Given the description of an element on the screen output the (x, y) to click on. 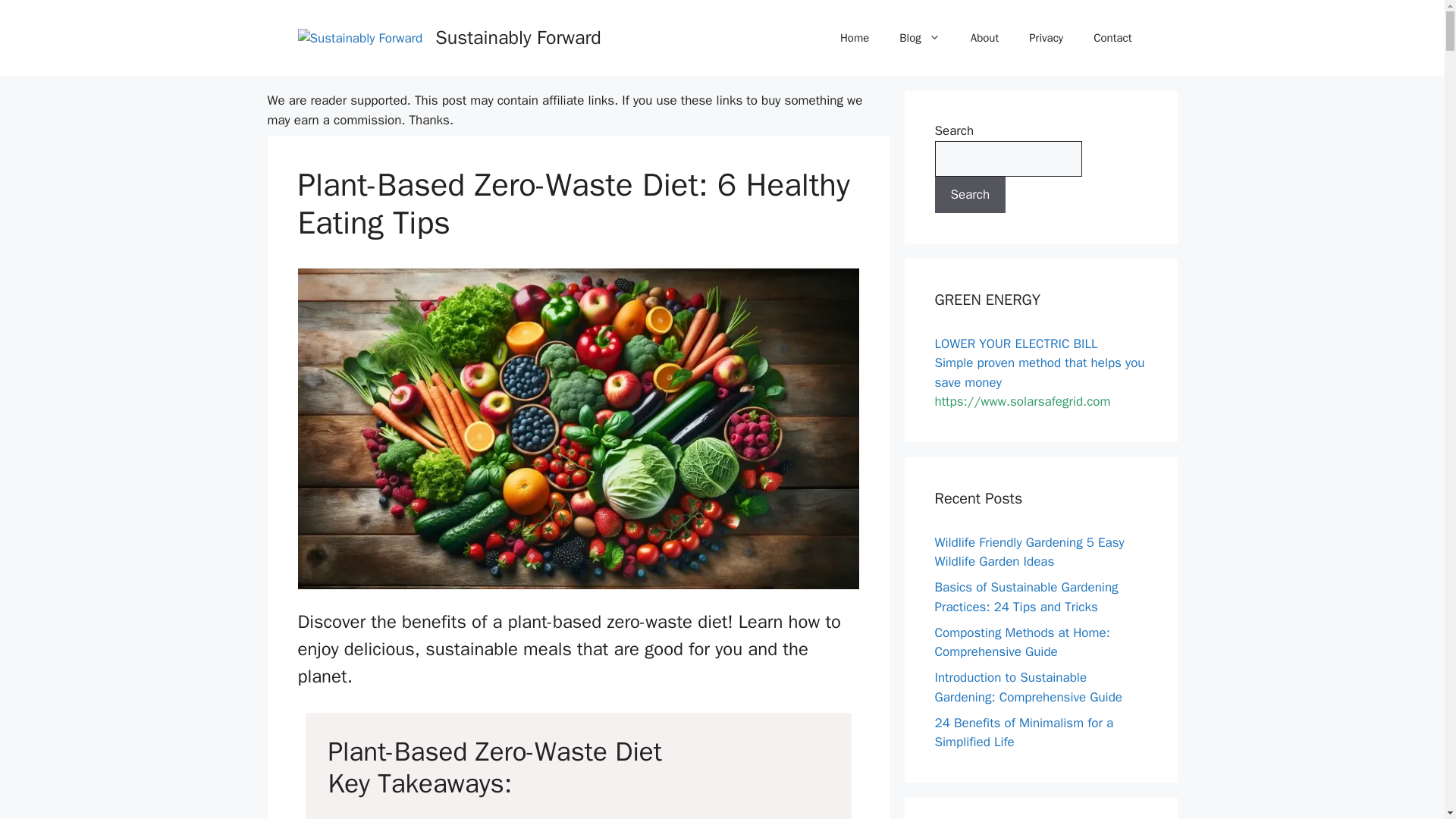
Contact (1112, 37)
Home (854, 37)
Privacy (1045, 37)
Sustainably Forward (518, 37)
About (984, 37)
Blog (919, 37)
